Given the description of an element on the screen output the (x, y) to click on. 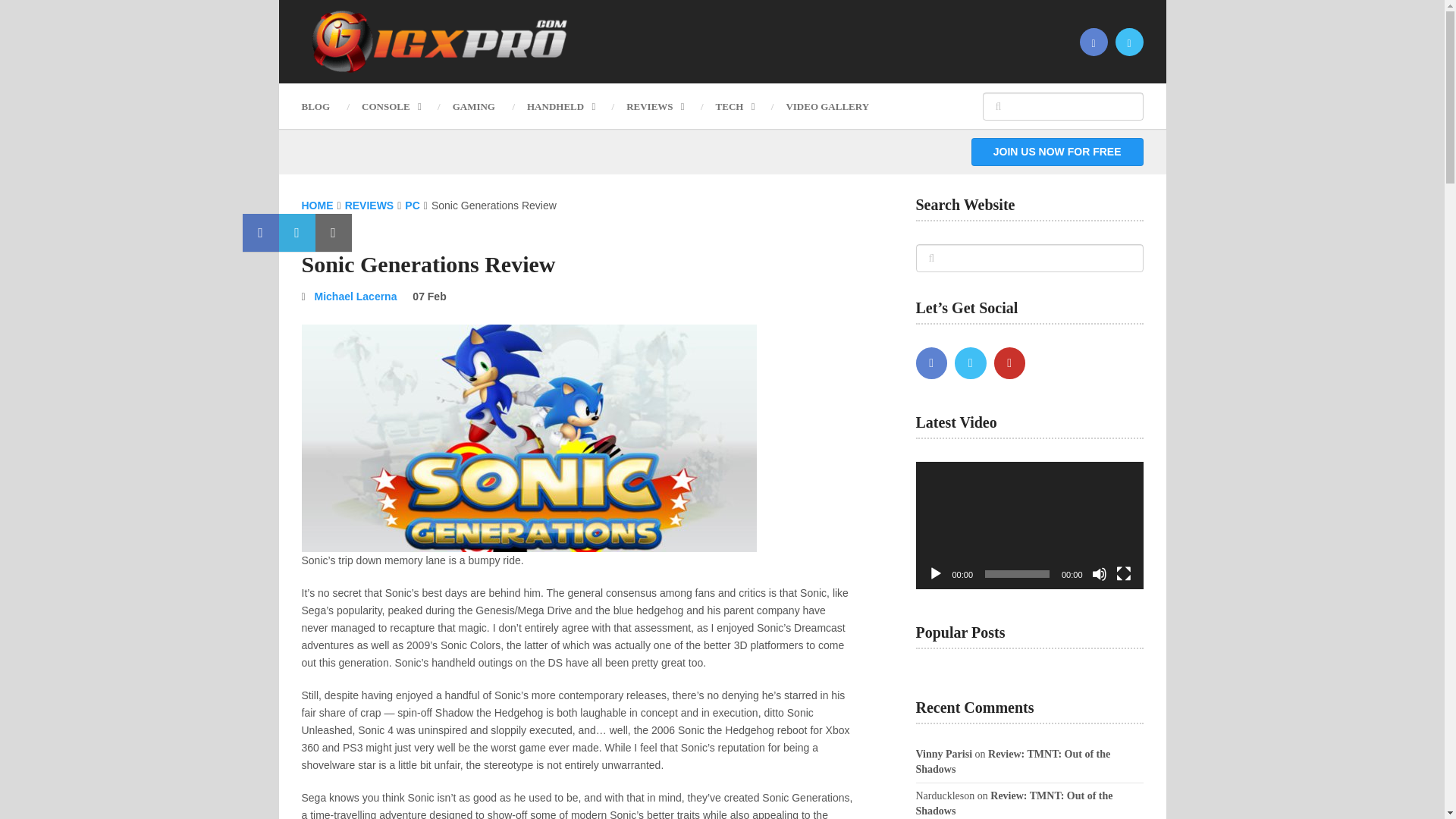
Mute (1099, 573)
HANDHELD (560, 105)
HOME (317, 205)
Join Us Now For Free (1056, 152)
BLOG (323, 105)
Posts by Michael Lacerna (355, 296)
TECH (735, 105)
REVIEWS (654, 105)
Fullscreen (1123, 573)
VIDEO GALLERY (827, 105)
Play (935, 573)
Michael Lacerna (355, 296)
GAMING (473, 105)
CONSOLE (391, 105)
Facebook (931, 363)
